Given the description of an element on the screen output the (x, y) to click on. 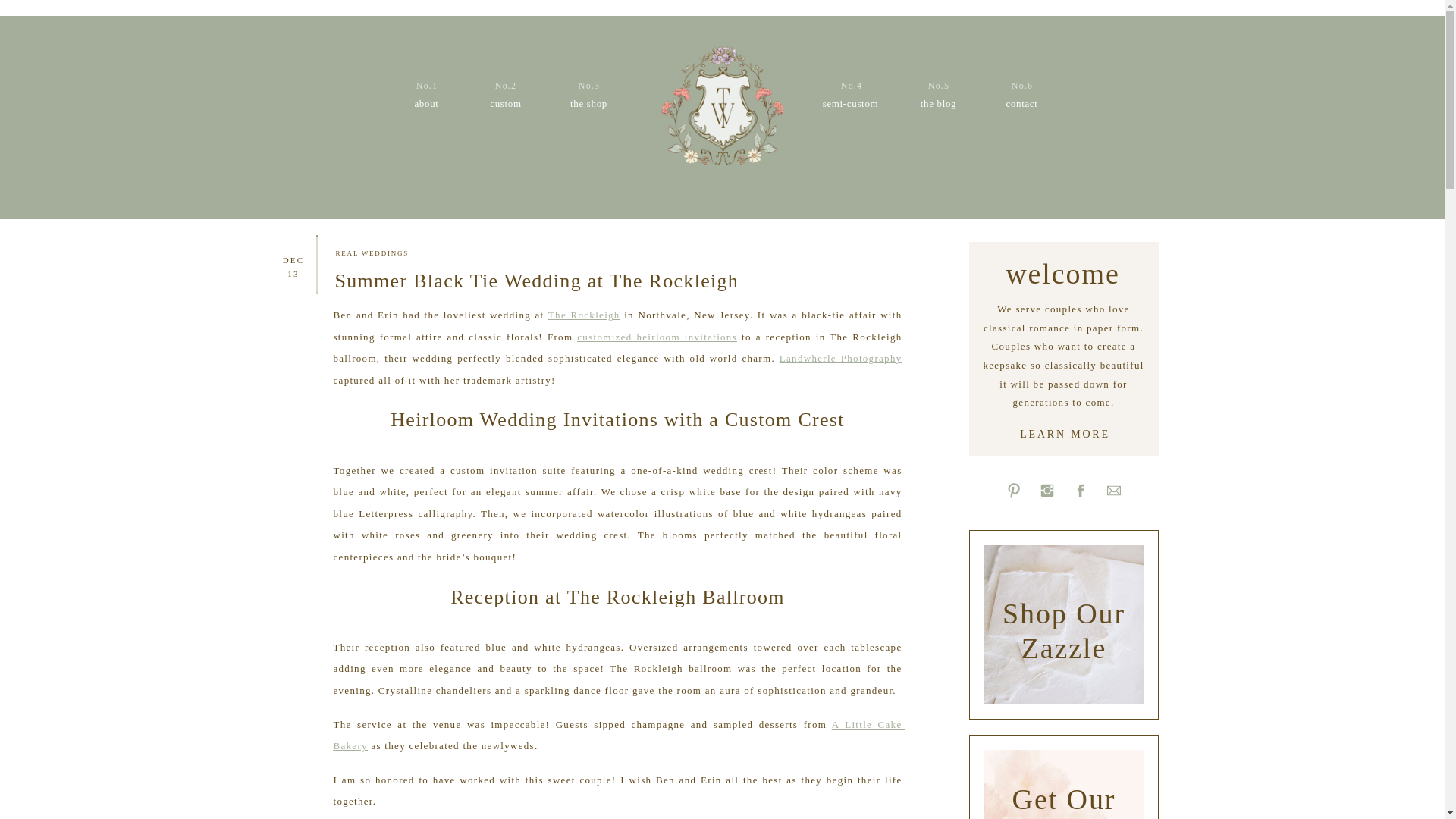
semi-custom (849, 104)
No.1 (426, 85)
contact (1022, 104)
No.3 (588, 85)
the shop (588, 104)
No.6 (1021, 85)
about (427, 104)
No.4 (851, 85)
Get Our Wedding Invitation Guide (1063, 800)
custom (504, 104)
